Given the description of an element on the screen output the (x, y) to click on. 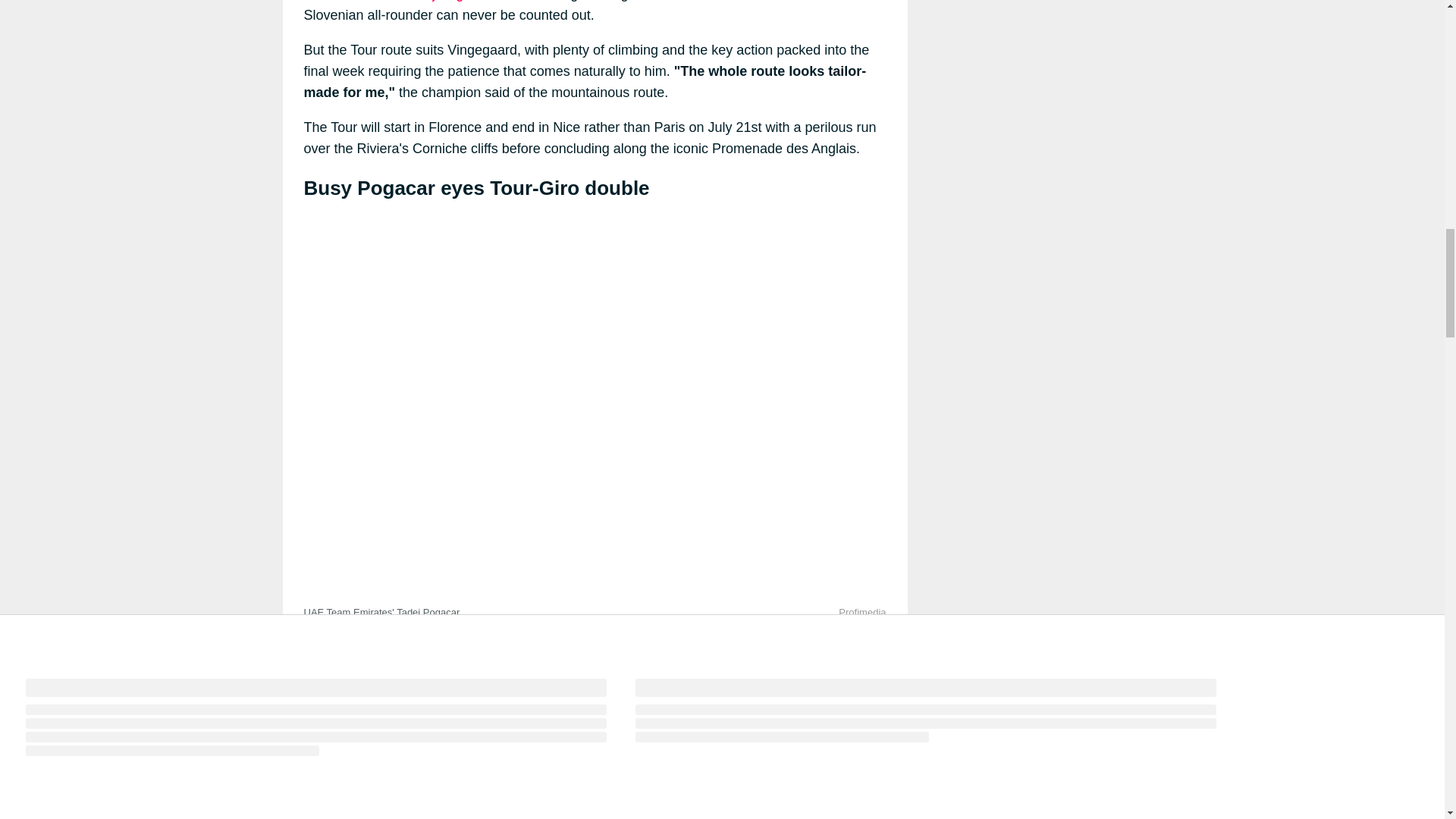
Tadej Pogacar (446, 0)
